Given the description of an element on the screen output the (x, y) to click on. 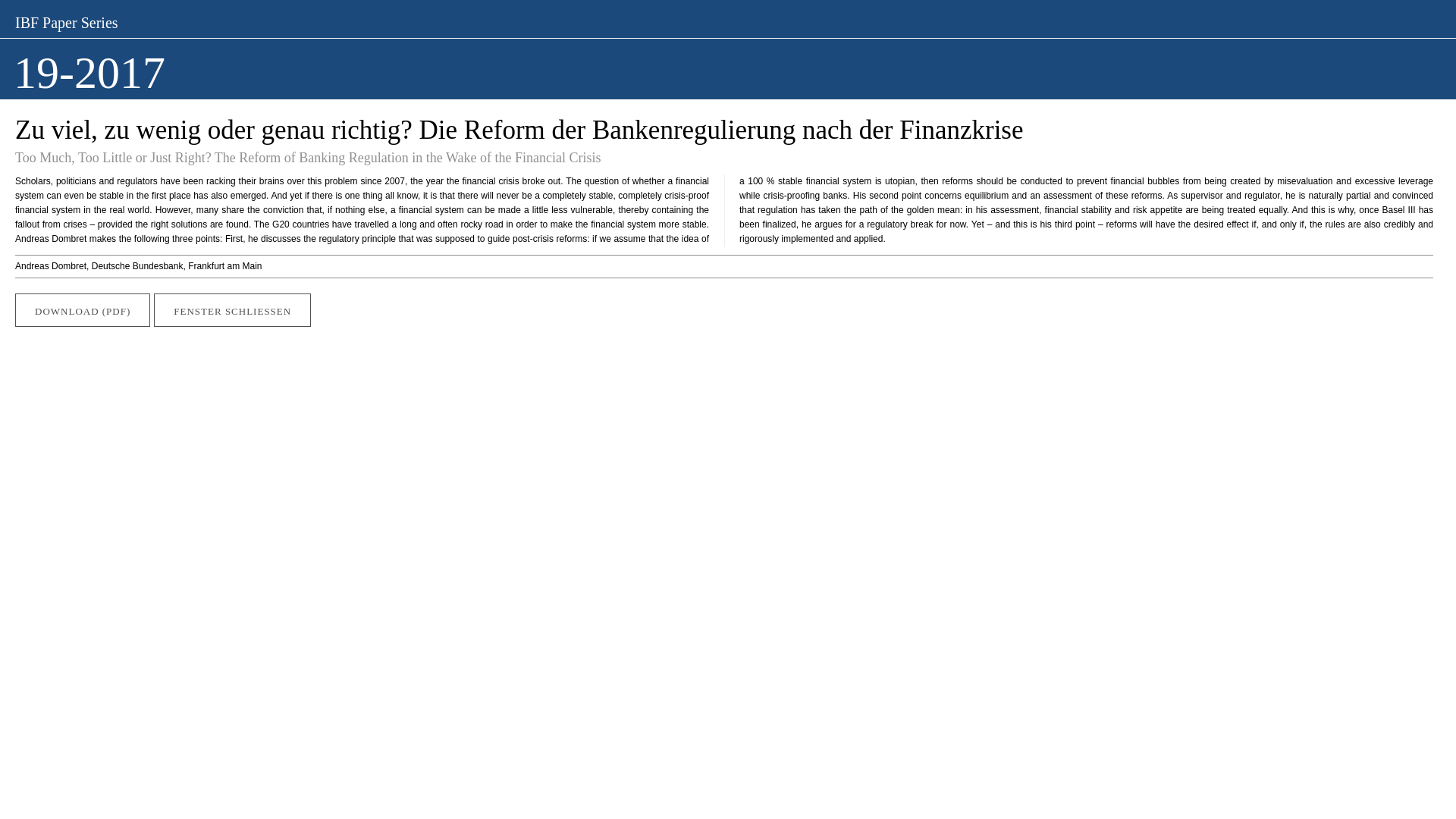
FENSTER SCHLIESSEN (232, 309)
